Given the description of an element on the screen output the (x, y) to click on. 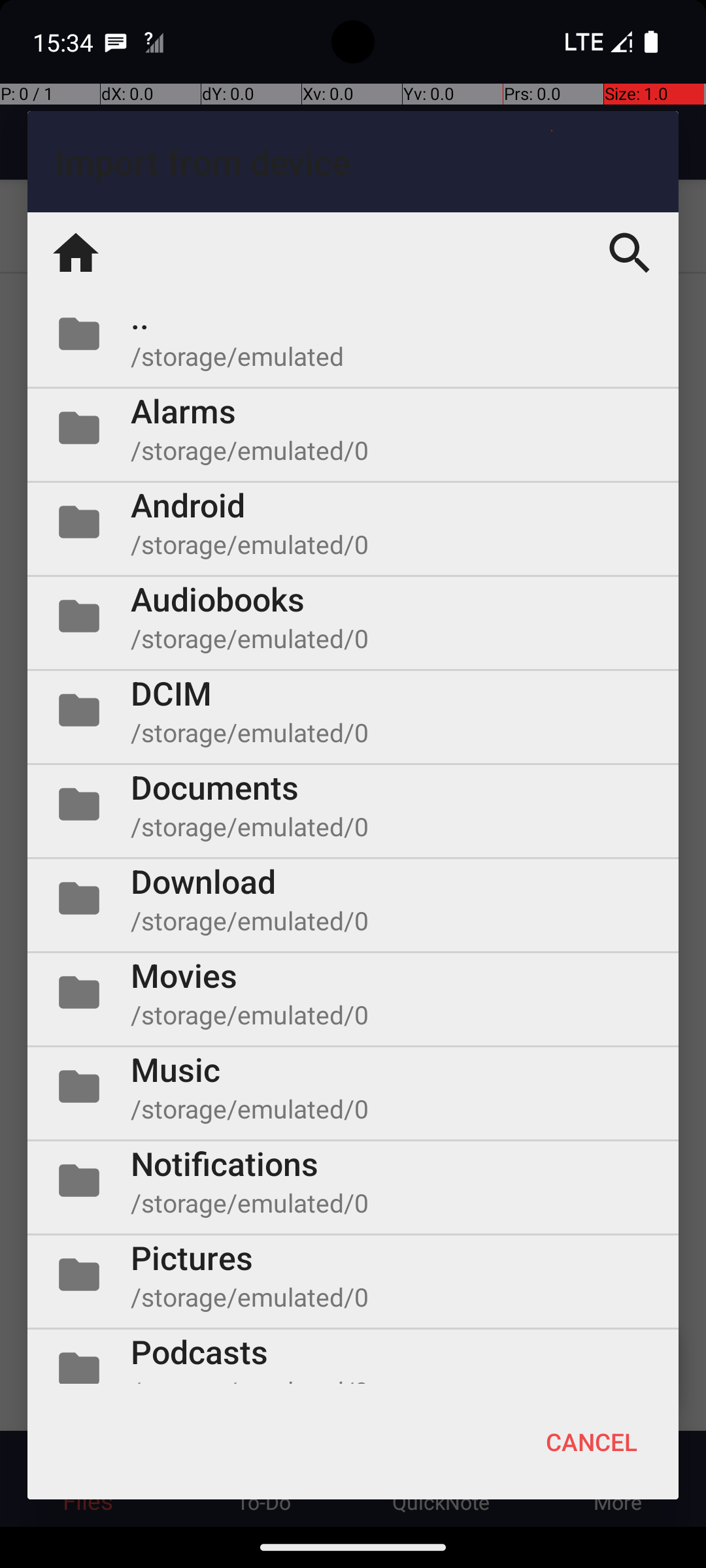
Folder Alarms  Element type: android.widget.LinearLayout (352, 427)
Folder Android  Element type: android.widget.LinearLayout (352, 521)
Folder Audiobooks  Element type: android.widget.LinearLayout (352, 615)
Folder DCIM  Element type: android.widget.LinearLayout (352, 709)
Folder Documents  Element type: android.widget.LinearLayout (352, 804)
Folder Download  Element type: android.widget.LinearLayout (352, 898)
Folder Movies  Element type: android.widget.LinearLayout (352, 992)
Folder Music  Element type: android.widget.LinearLayout (352, 1086)
Folder Notifications  Element type: android.widget.LinearLayout (352, 1180)
Folder Pictures  Element type: android.widget.LinearLayout (352, 1274)
Folder Podcasts  Element type: android.widget.LinearLayout (352, 1356)
